Given the description of an element on the screen output the (x, y) to click on. 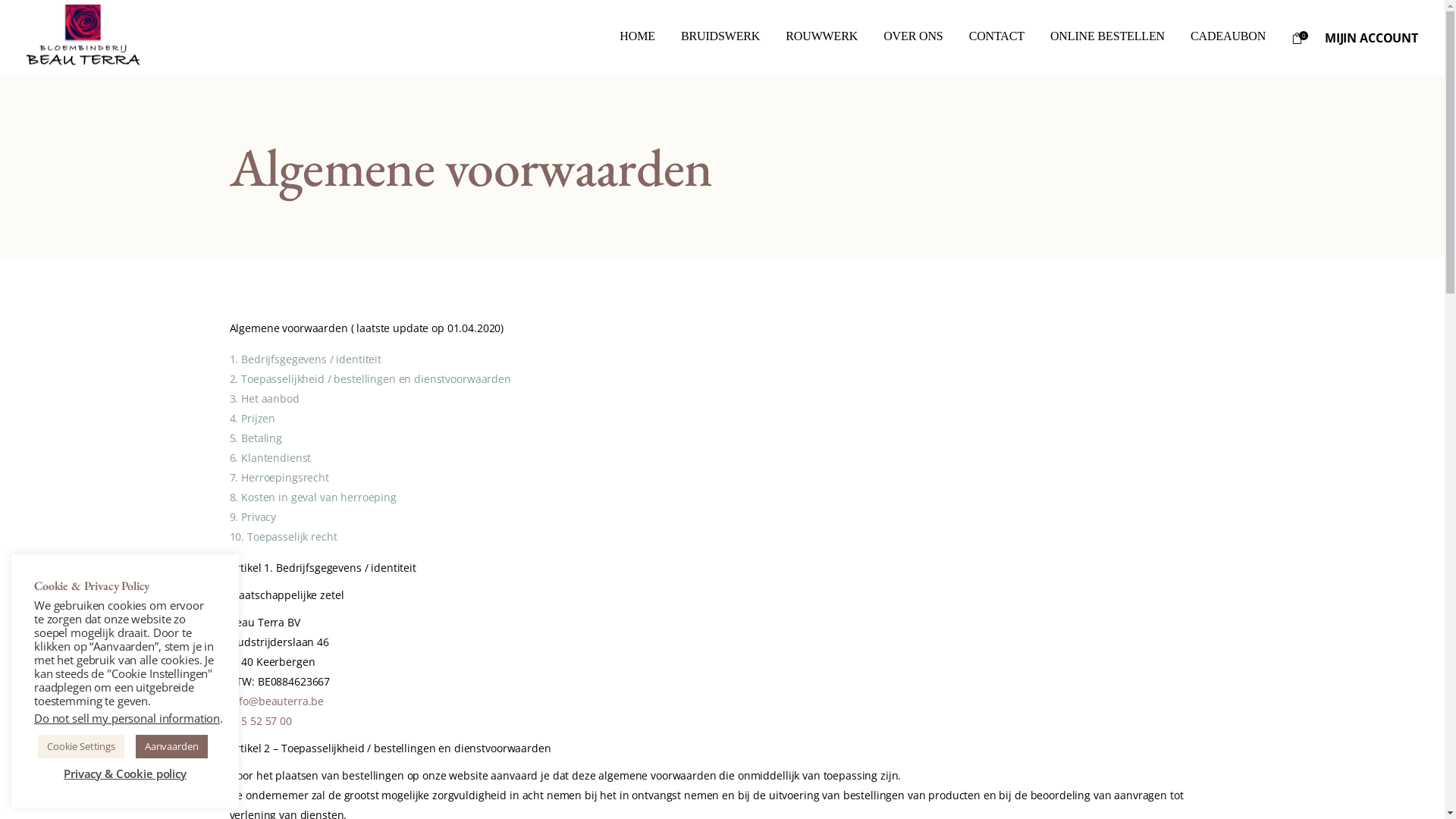
info@beauterra.be Element type: text (276, 700)
Cookie Settings Element type: text (80, 746)
ROUWWERK Element type: text (821, 37)
CONTACT Element type: text (996, 37)
Do not sell my personal information Element type: text (126, 717)
Privacy & Cookie policy Element type: text (124, 773)
0 Element type: text (1301, 37)
MIJIN ACCOUNT Element type: text (1371, 36)
ONLINE BESTELLEN Element type: text (1107, 37)
015 52 57 00 Element type: text (260, 720)
Aanvaarden Element type: text (171, 746)
CADEAUBON Element type: text (1227, 37)
HOME Element type: text (637, 37)
OVER ONS Element type: text (912, 37)
BRUIDSWERK Element type: text (720, 37)
